Given the description of an element on the screen output the (x, y) to click on. 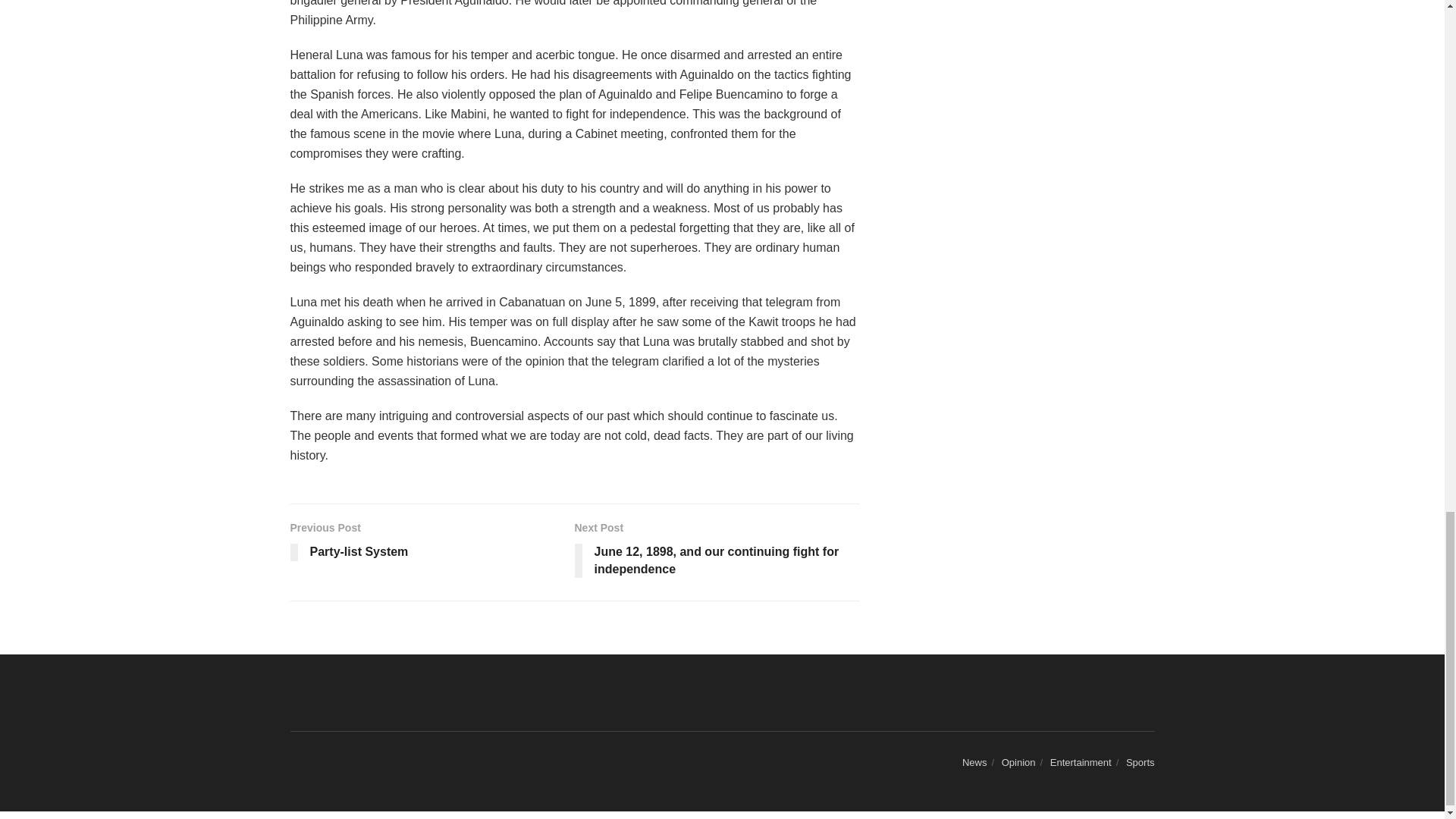
Sports (1139, 762)
Opinion (1018, 762)
News (431, 543)
Entertainment (974, 762)
